Given the description of an element on the screen output the (x, y) to click on. 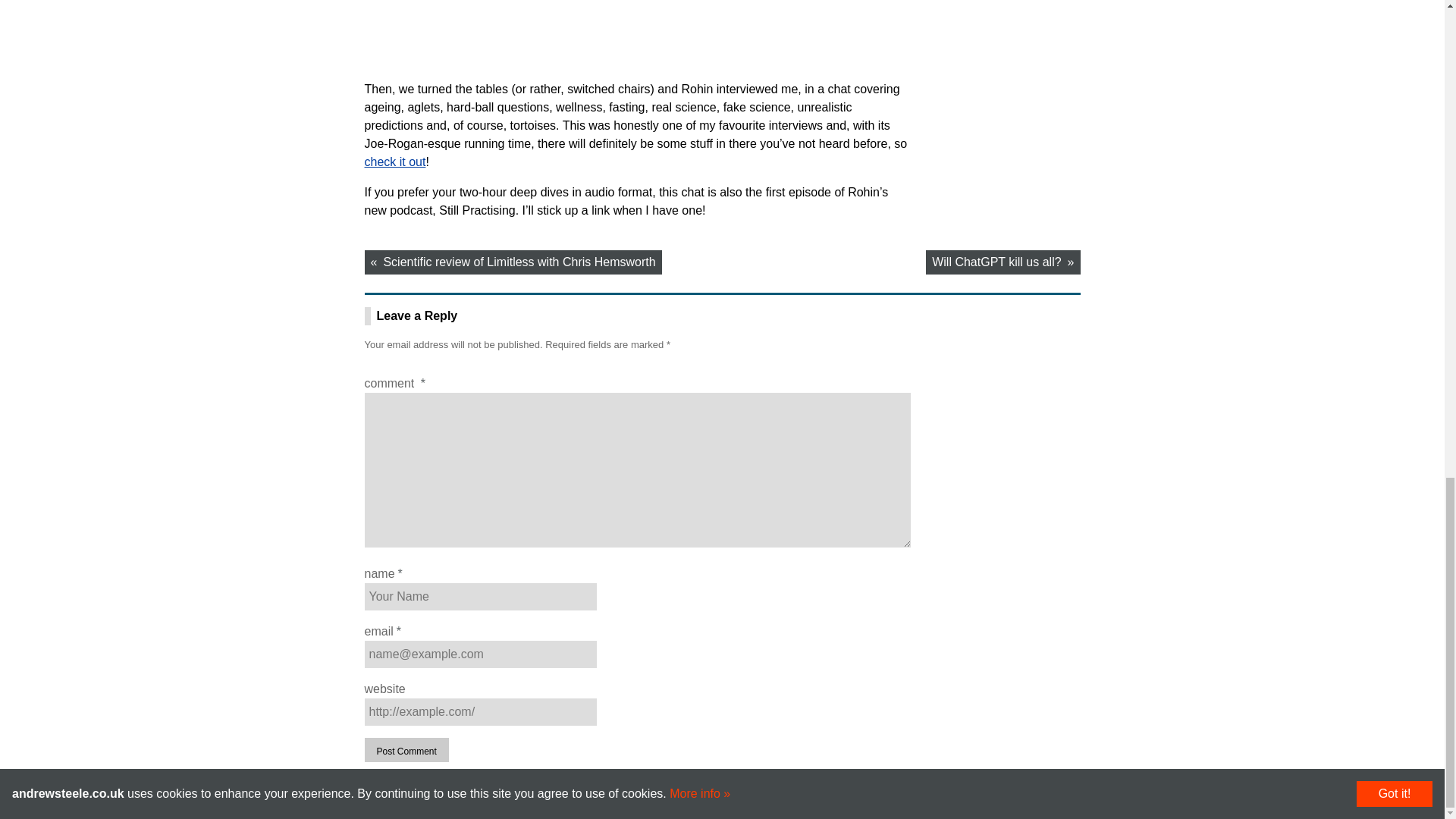
YouTube player (722, 40)
check it out (394, 161)
Post Comment (406, 749)
Post Comment (406, 749)
Will ChatGPT kill us all? (1003, 262)
Scientific review of Limitless with Chris Hemsworth (512, 262)
